Given the description of an element on the screen output the (x, y) to click on. 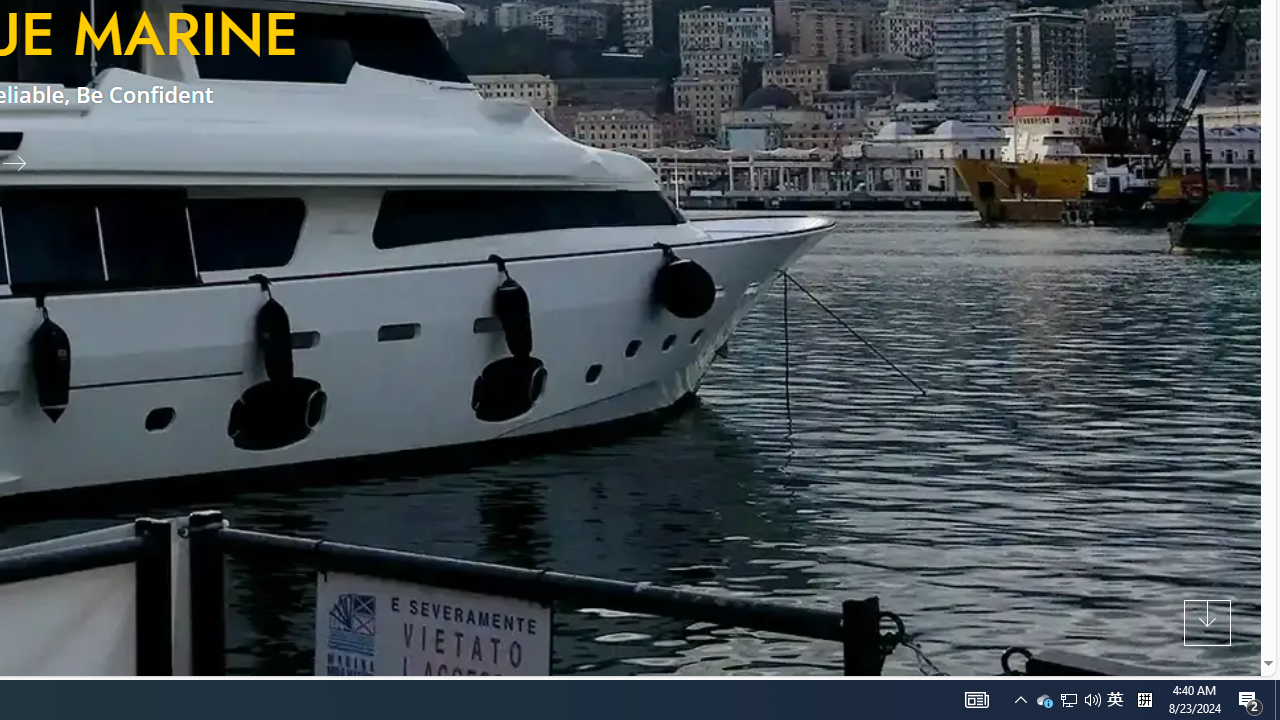
Next Section (1207, 622)
Next Slide (22, 161)
